Given the description of an element on the screen output the (x, y) to click on. 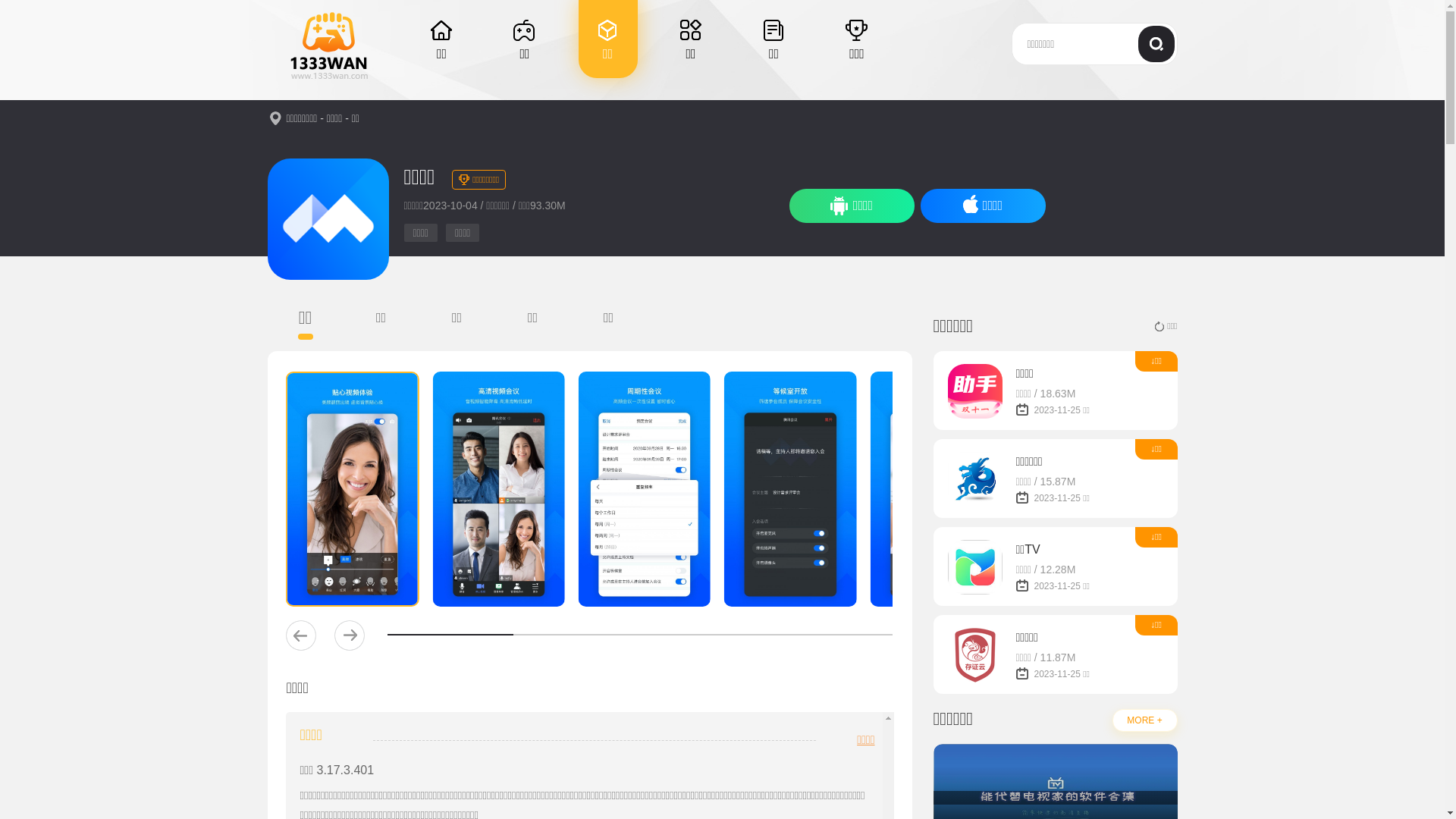
MORE + Element type: text (1143, 720)
